Given the description of an element on the screen output the (x, y) to click on. 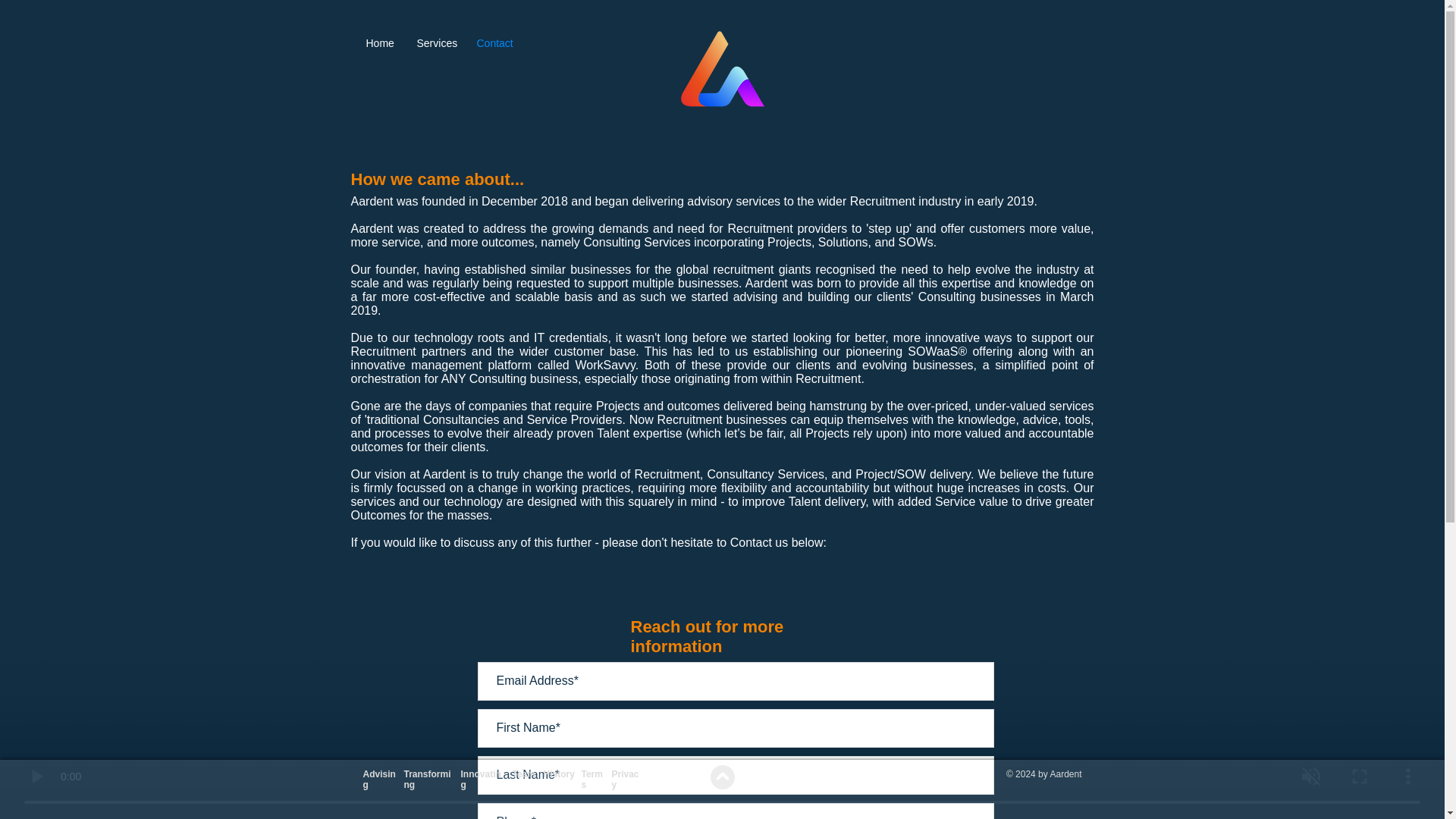
Services (434, 43)
Innovating (480, 779)
Transforming (426, 779)
Advising (378, 779)
Contact (494, 43)
Team (523, 774)
Home (380, 43)
History (558, 774)
Terms (591, 779)
Privacy (625, 779)
